Given the description of an element on the screen output the (x, y) to click on. 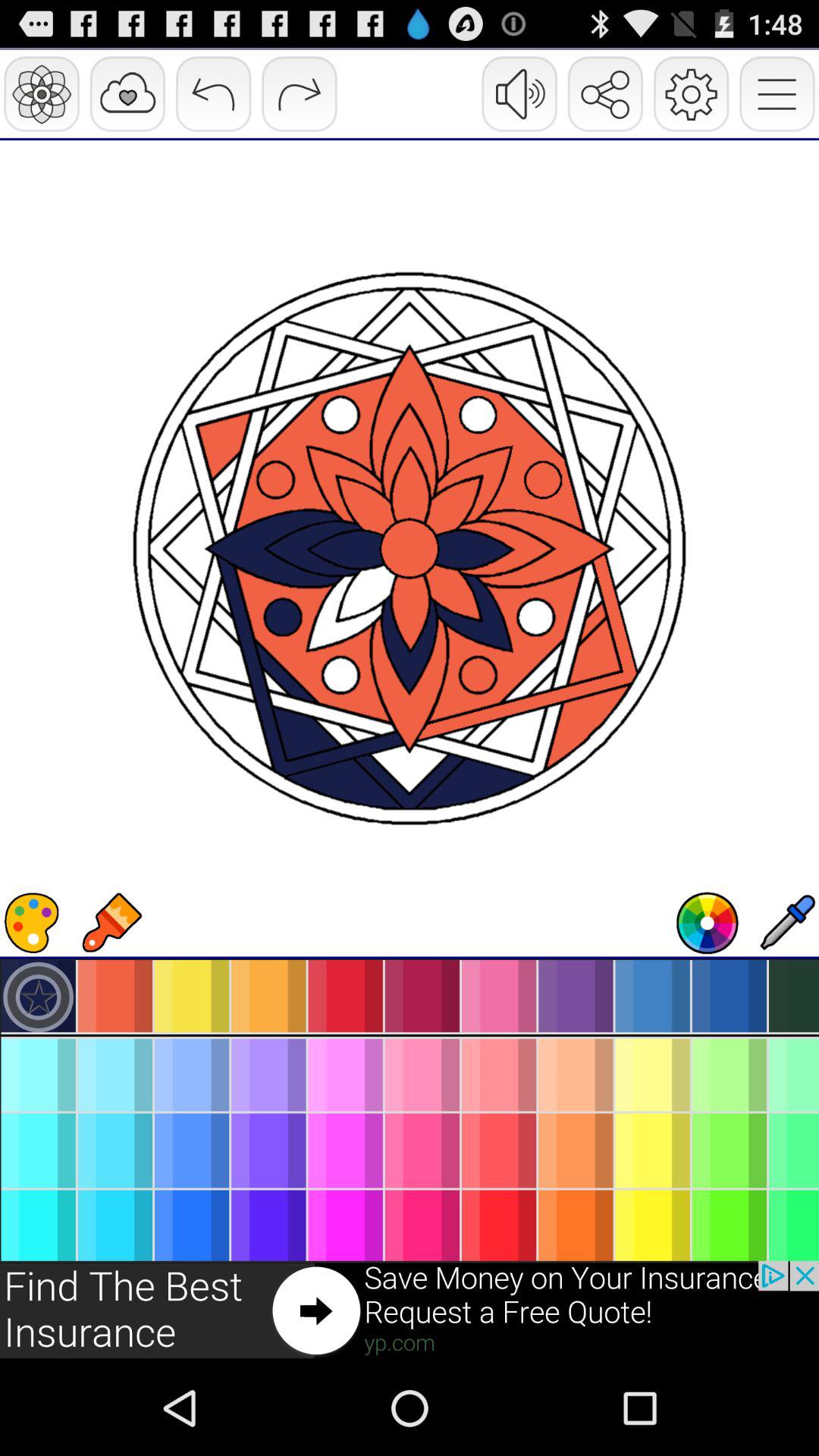
open palatte (31, 922)
